Given the description of an element on the screen output the (x, y) to click on. 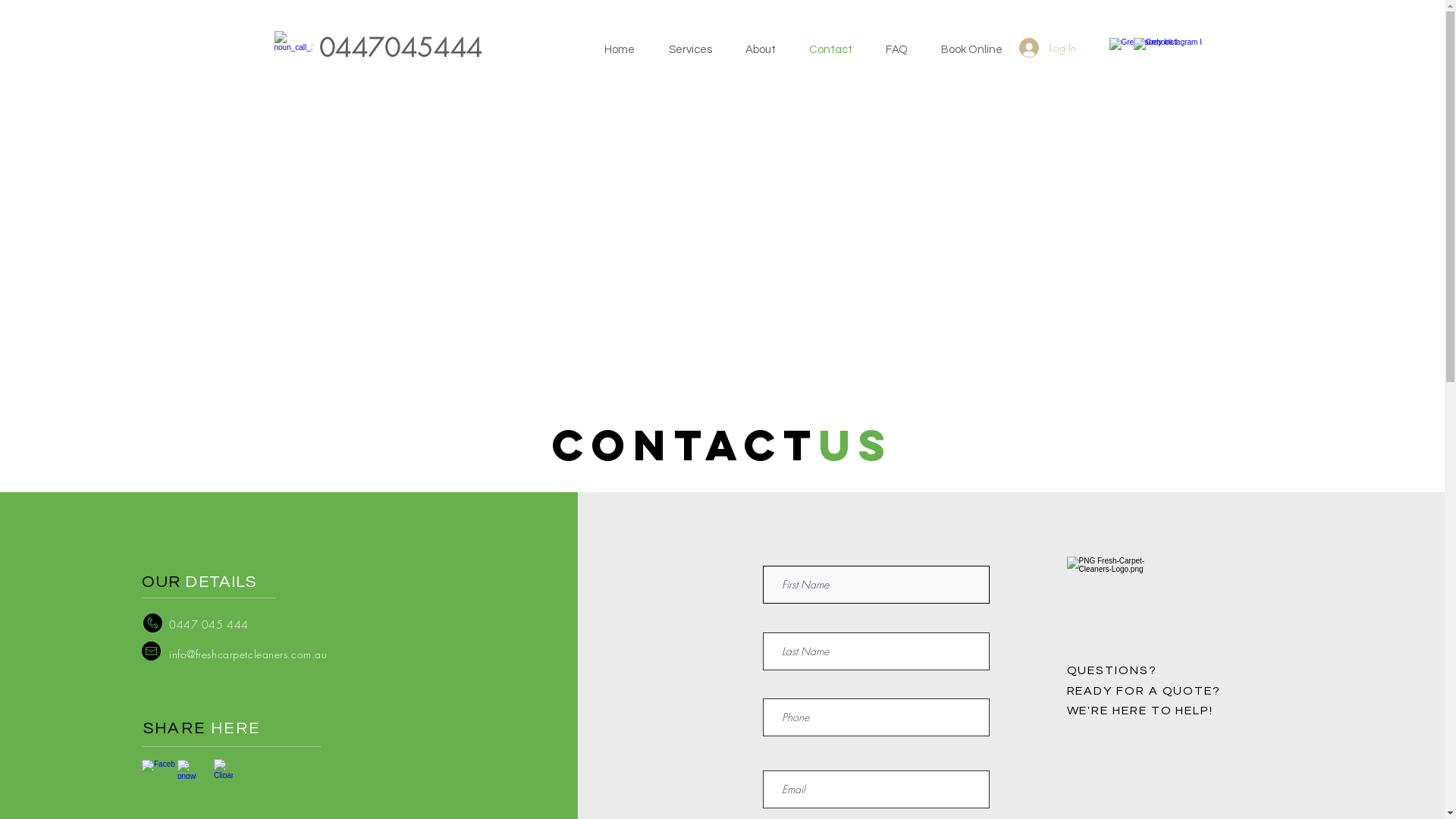
Contact Element type: text (838, 50)
FAQ Element type: text (905, 50)
info@freshcarpetcleaners.com.au Element type: text (247, 653)
About Element type: text (768, 50)
Services Element type: text (699, 50)
Home Element type: text (628, 50)
Book Online Element type: text (979, 50)
Log In Element type: text (1047, 47)
